Given the description of an element on the screen output the (x, y) to click on. 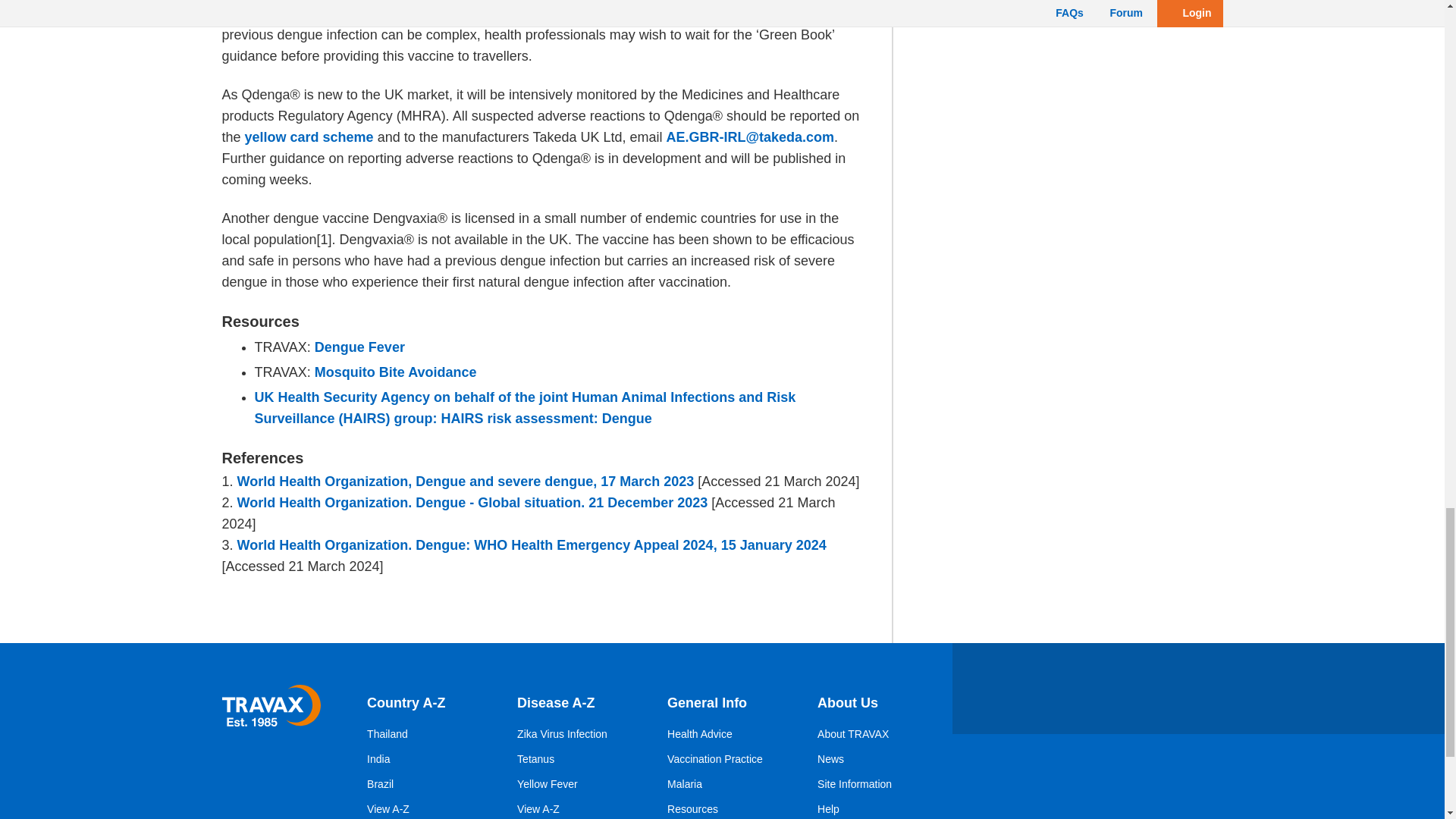
World Health Organization website (465, 481)
Mosquito Bite Avoidance (395, 372)
Takeda email link (750, 137)
World Health Organization website (472, 503)
World Health Organization website (532, 545)
Thailand (386, 734)
Gov.UK website (525, 407)
